Given the description of an element on the screen output the (x, y) to click on. 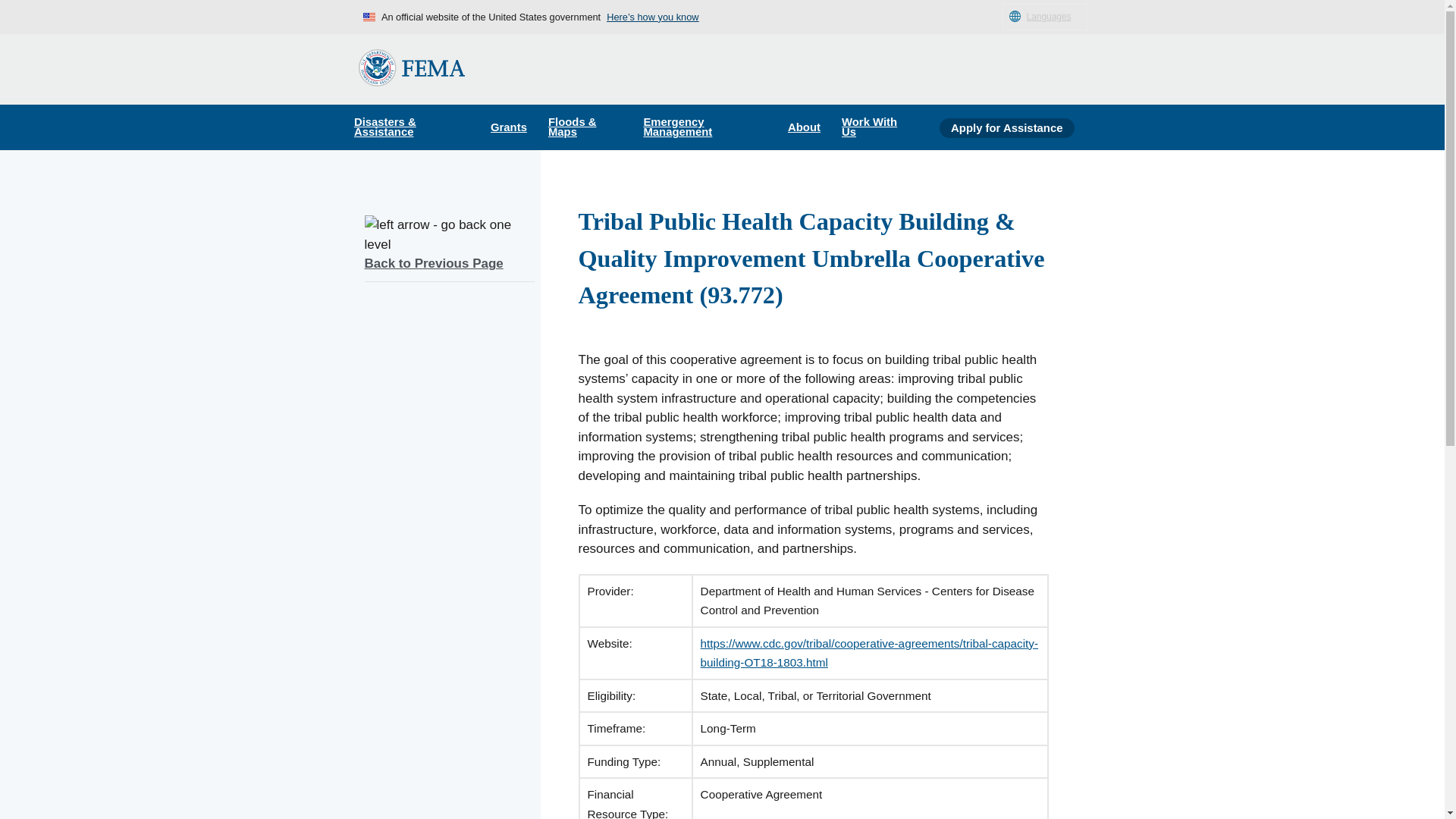
FEMA logo (411, 67)
Languages (1044, 16)
Skip to main content (16, 16)
